Given the description of an element on the screen output the (x, y) to click on. 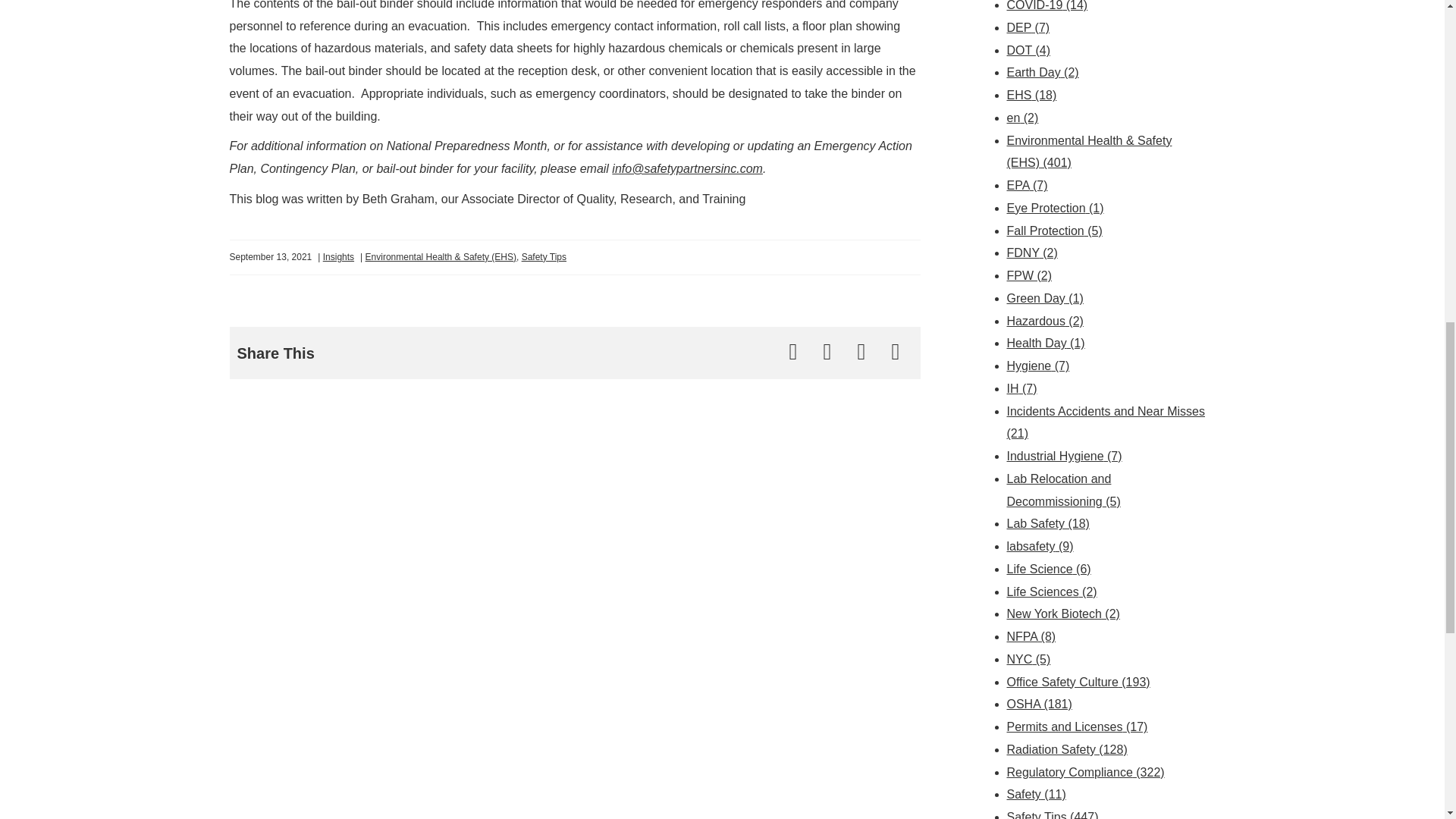
Insights (338, 256)
